Given the description of an element on the screen output the (x, y) to click on. 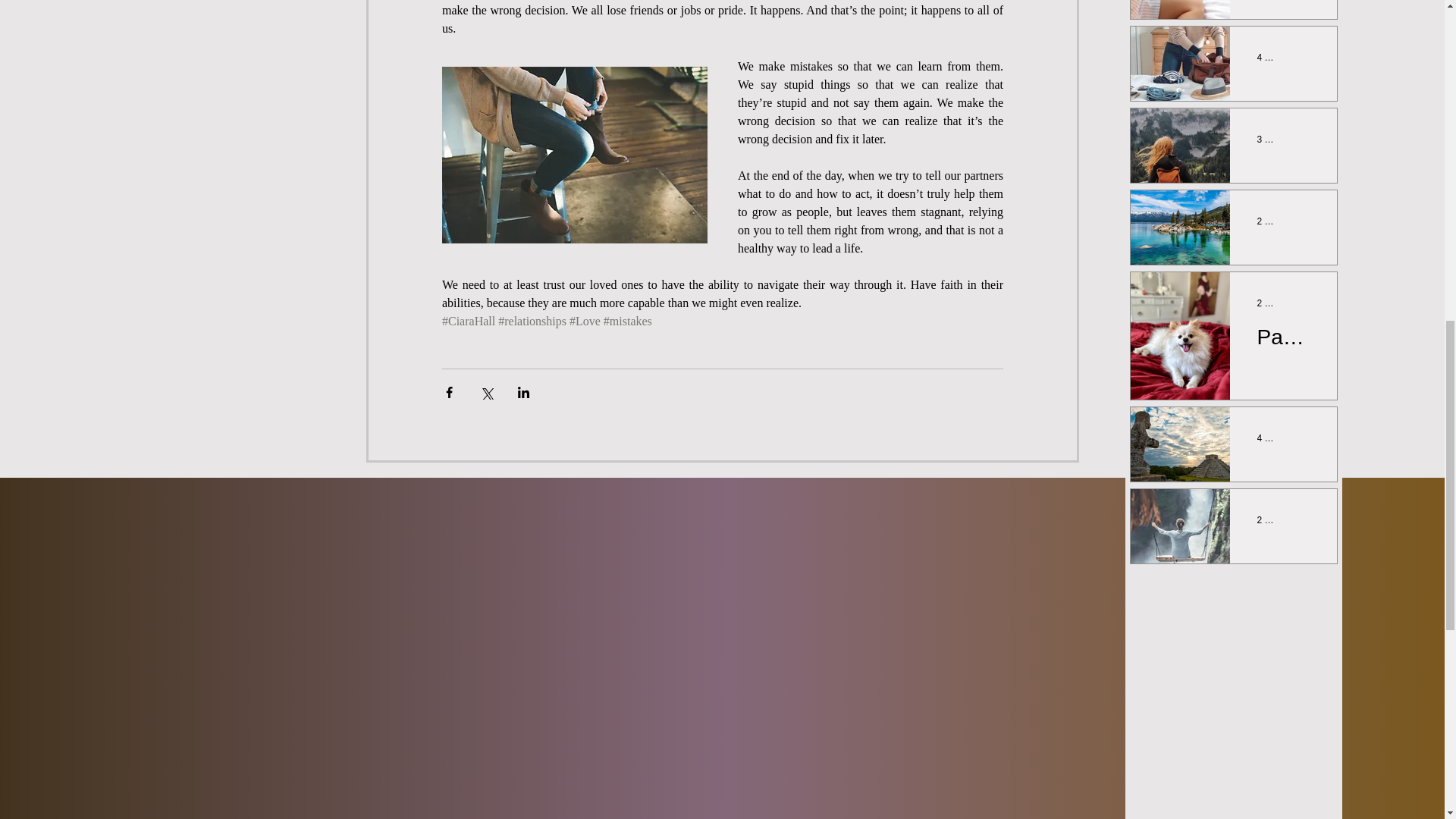
The Brave Stardust Journey from Ordinary to Heroic (1282, 15)
4 min (1268, 438)
The Symphony of Change: A Journey to the Cityscape (1282, 96)
4 min (1268, 57)
2 min (1268, 221)
2 min (1268, 303)
2 min (1268, 520)
3 min (1268, 139)
